Given the description of an element on the screen output the (x, y) to click on. 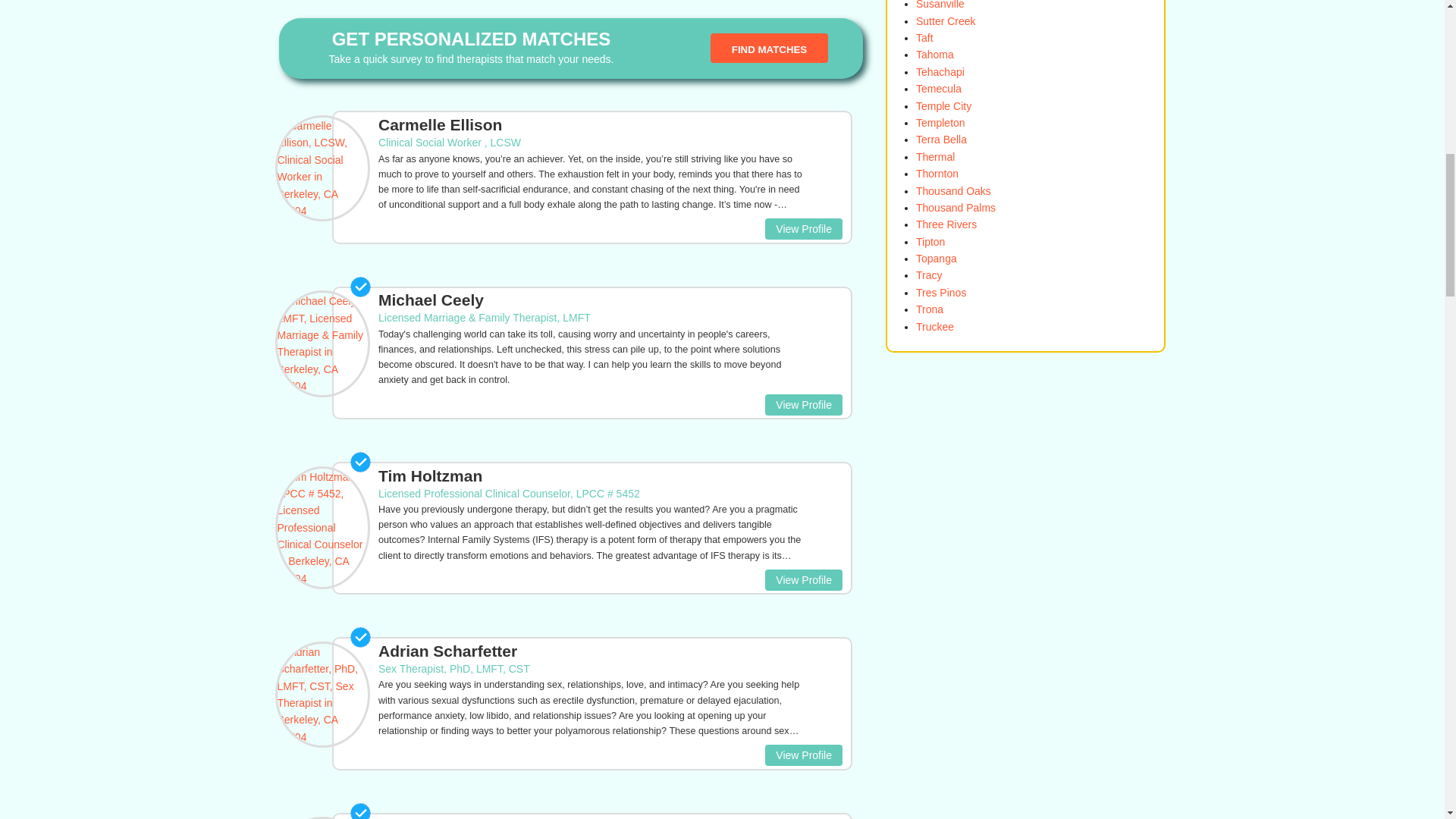
FIND MATCHES (769, 48)
View Profile (804, 228)
